Given the description of an element on the screen output the (x, y) to click on. 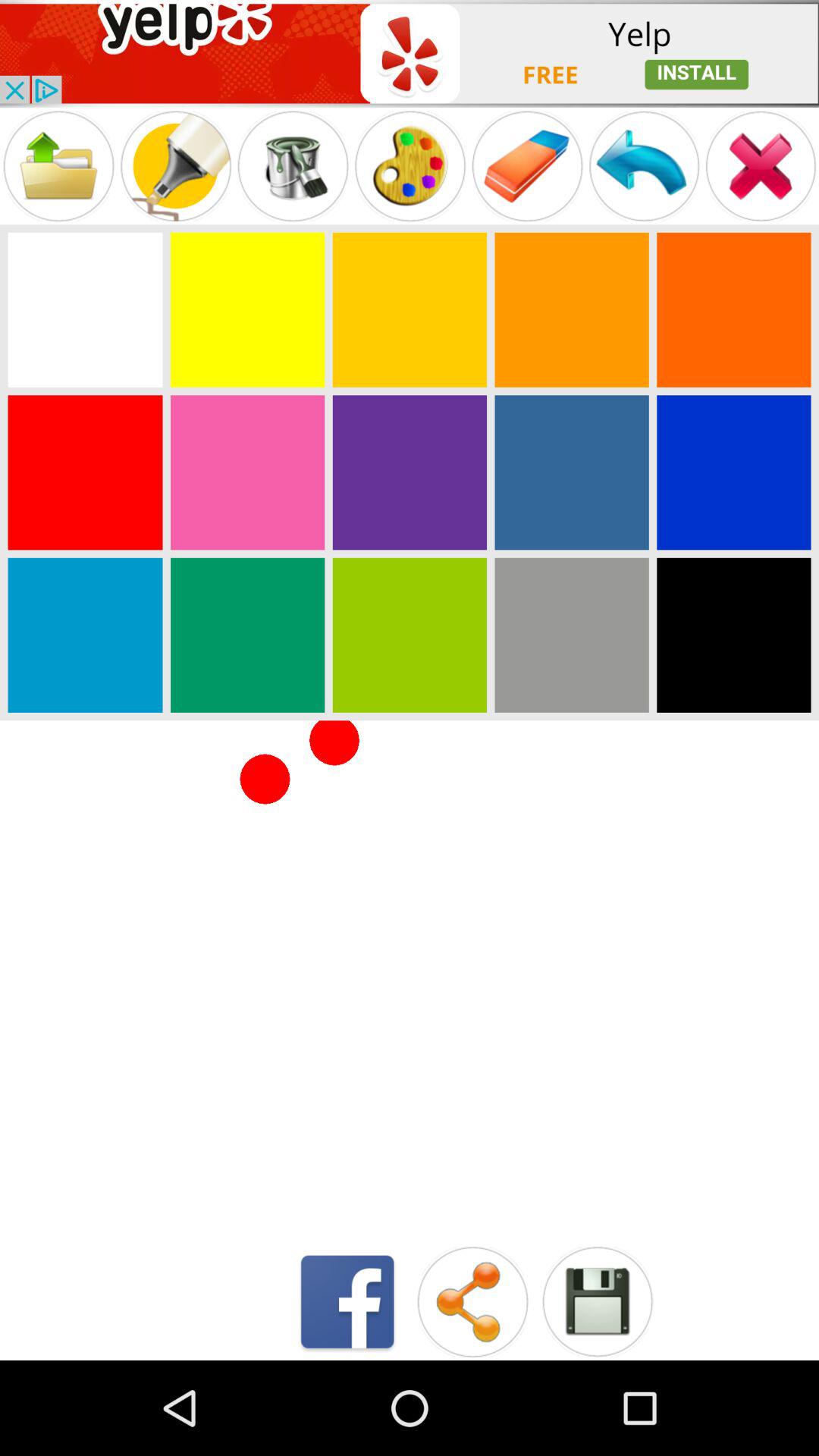
choose brush (175, 165)
